Given the description of an element on the screen output the (x, y) to click on. 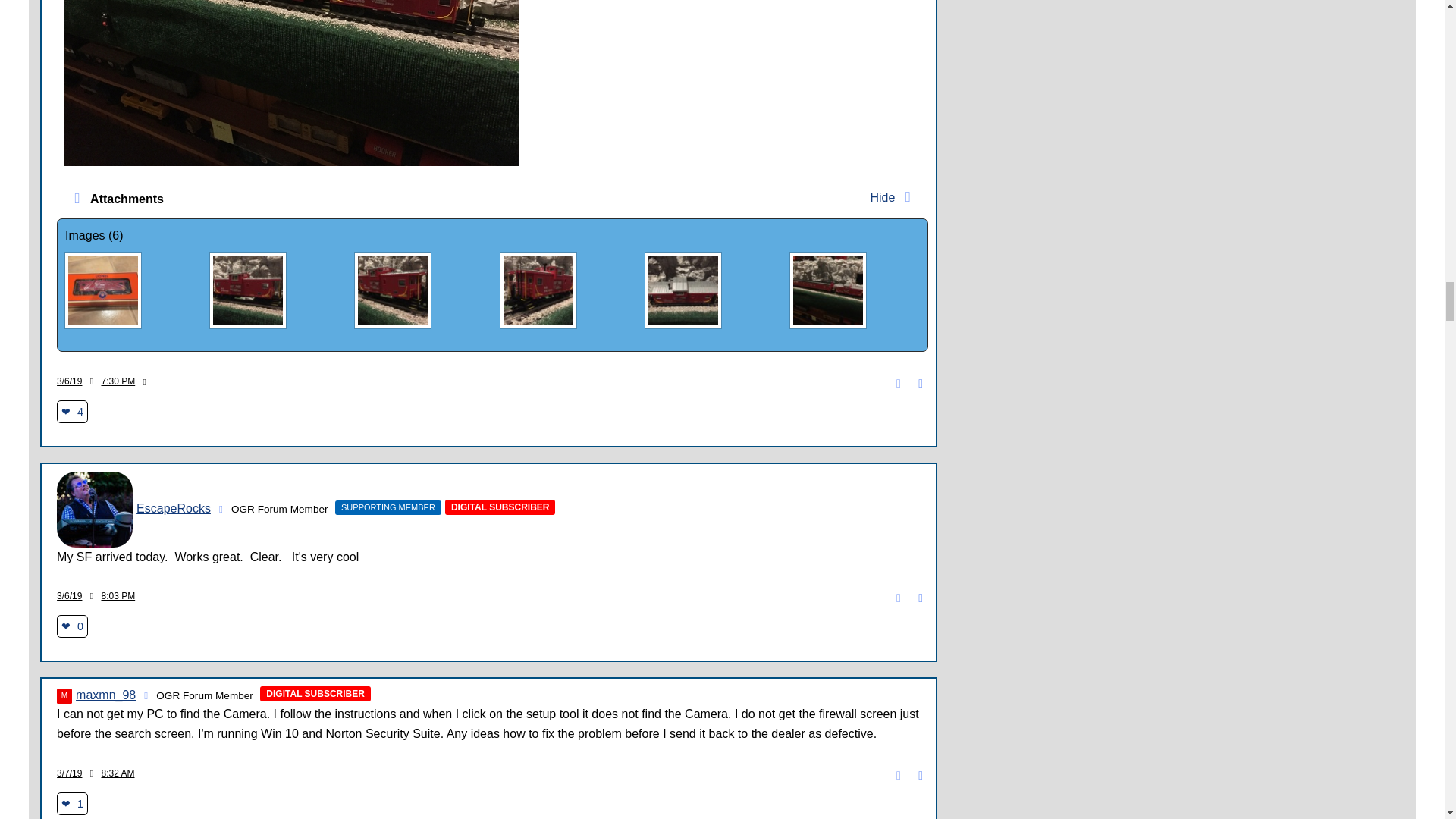
M (63, 695)
